Given the description of an element on the screen output the (x, y) to click on. 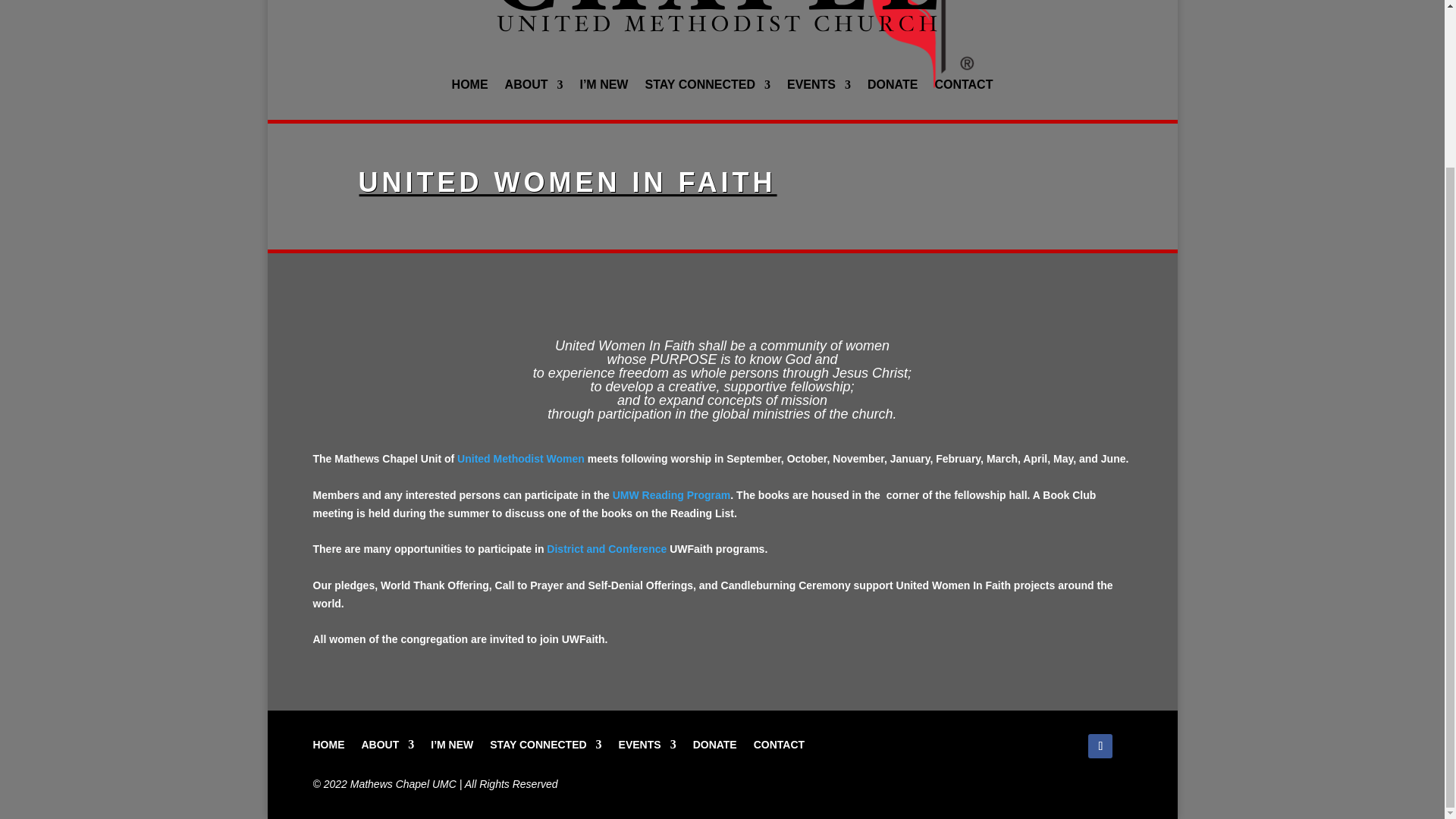
ABOUT (534, 87)
EVENTS (818, 87)
STAY CONNECTED (707, 87)
CONTACT (963, 87)
HOME (469, 87)
United Methodist Women (521, 458)
Follow on Facebook (1099, 745)
HOME (328, 741)
ABOUT (387, 741)
District and Conference (606, 548)
DONATE (892, 87)
UMW Reading Program (671, 494)
